Given the description of an element on the screen output the (x, y) to click on. 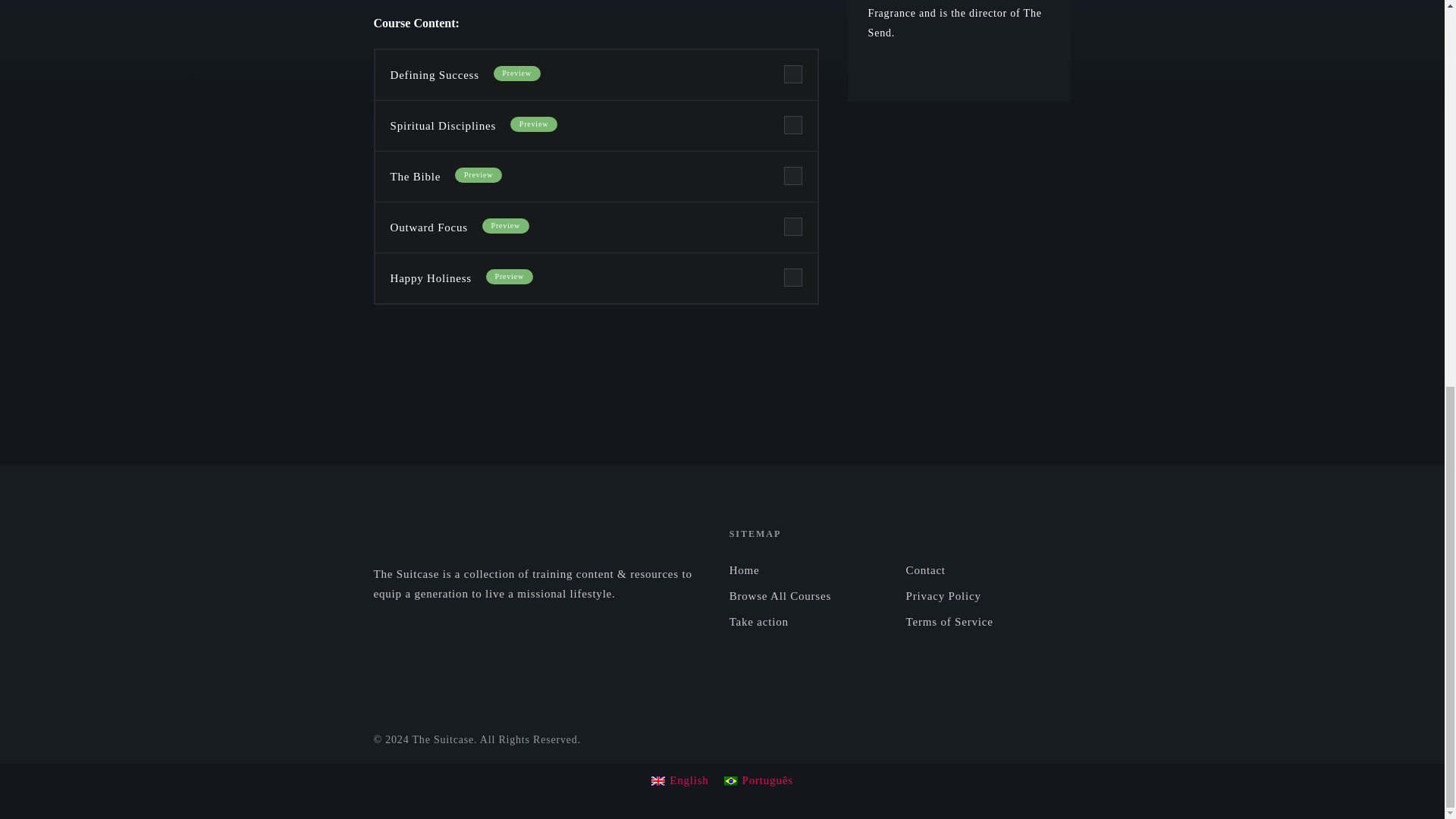
Contact (988, 569)
Happy Holiness (430, 277)
Home (812, 569)
Outward Focus (427, 227)
Spiritual Disciplines (442, 125)
Browse All Courses (812, 596)
The Bible (414, 176)
Terms of Service (988, 621)
Privacy Policy (988, 596)
Take action (812, 621)
